Given the description of an element on the screen output the (x, y) to click on. 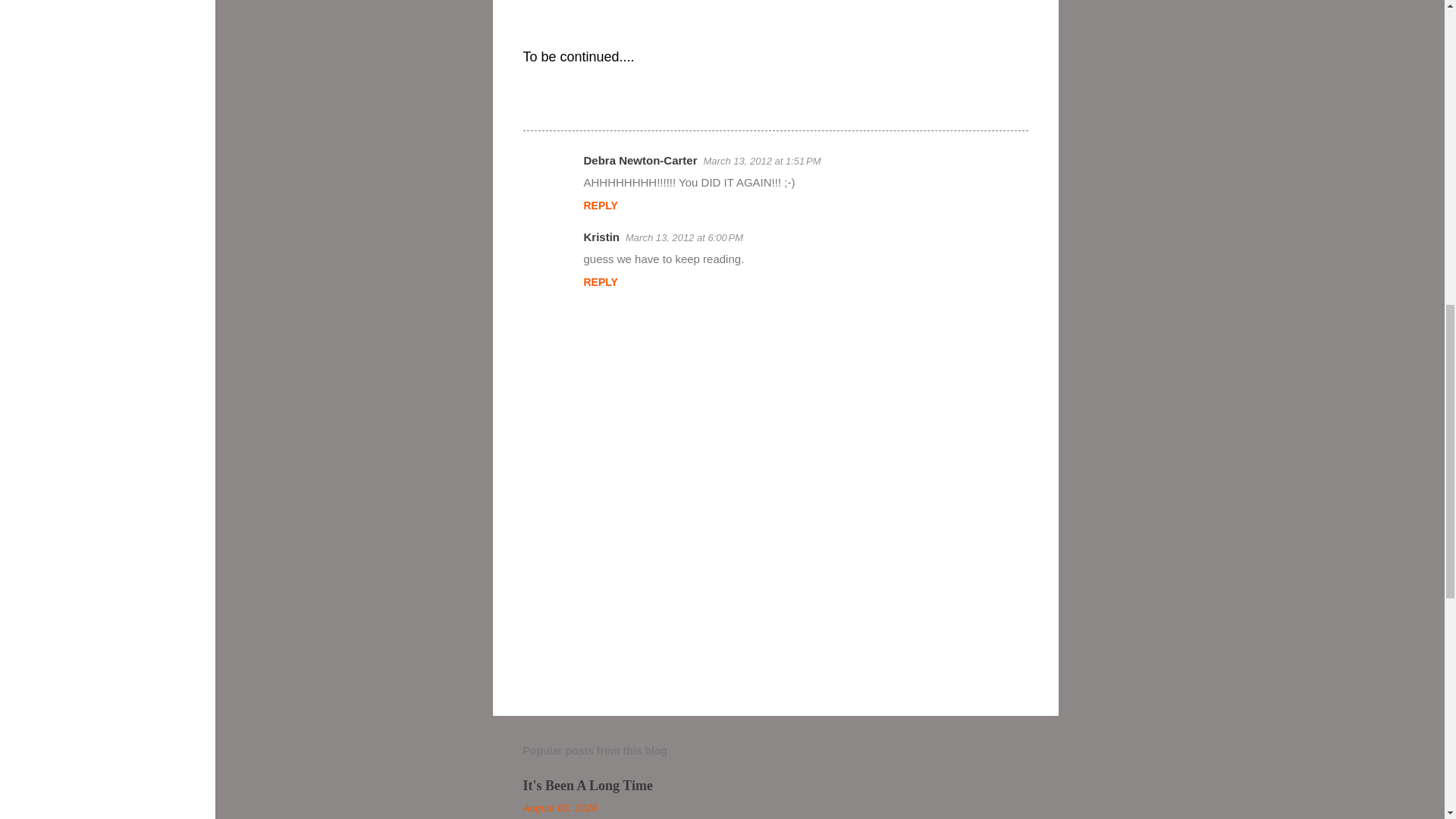
Advertisement (1118, 102)
REPLY (600, 205)
It's Been A Long Time (587, 785)
Kristin (601, 236)
August 03, 2020 (559, 808)
REPLY (600, 282)
Debra Newton-Carter (640, 160)
